Given the description of an element on the screen output the (x, y) to click on. 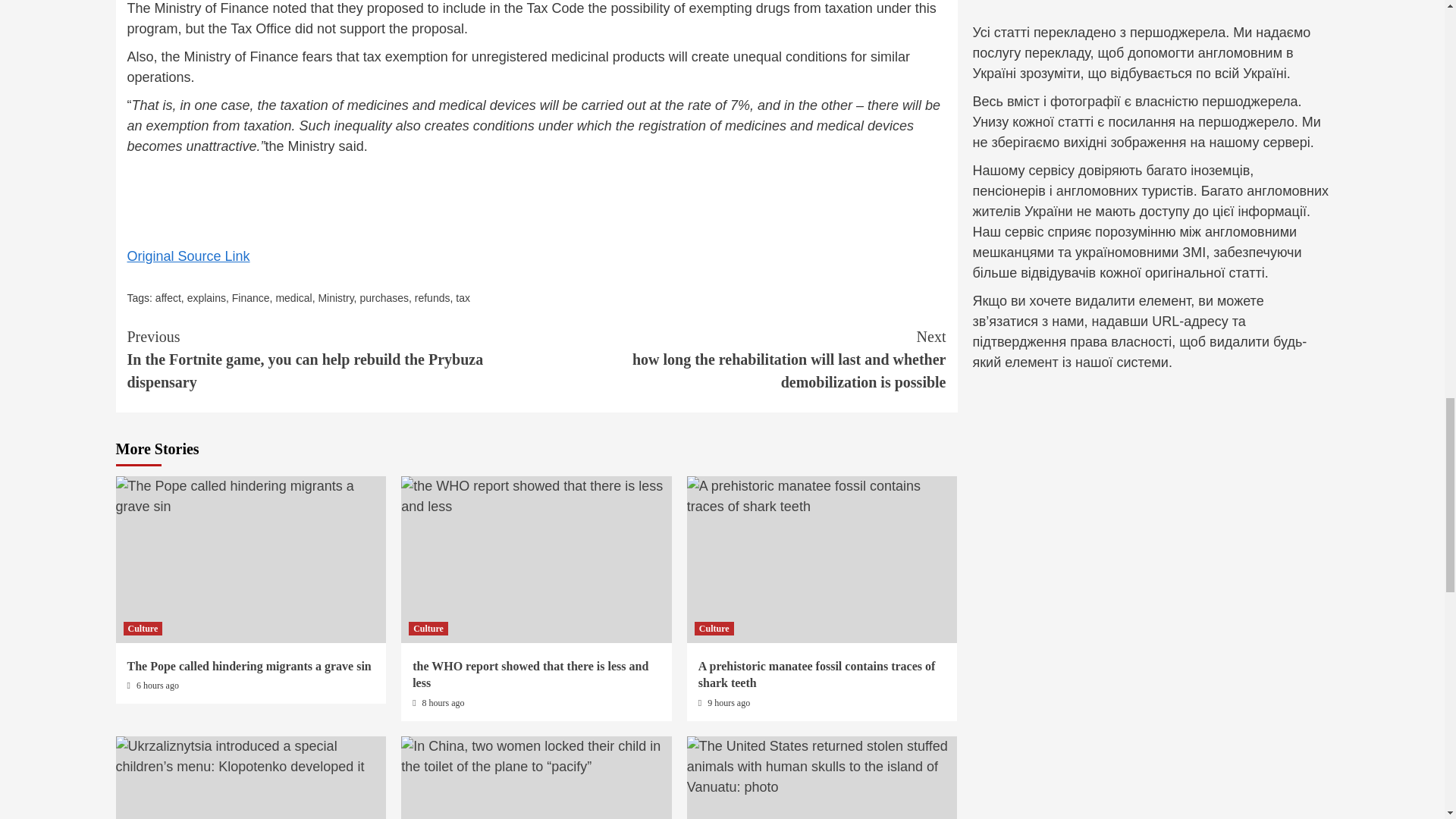
The Pope called hindering migrants a grave sin (250, 495)
the WHO report showed that there is less and less (529, 674)
purchases (384, 297)
Ministry (335, 297)
the WHO report showed that there is less and less (536, 495)
Finance (250, 297)
medical (293, 297)
